Given the description of an element on the screen output the (x, y) to click on. 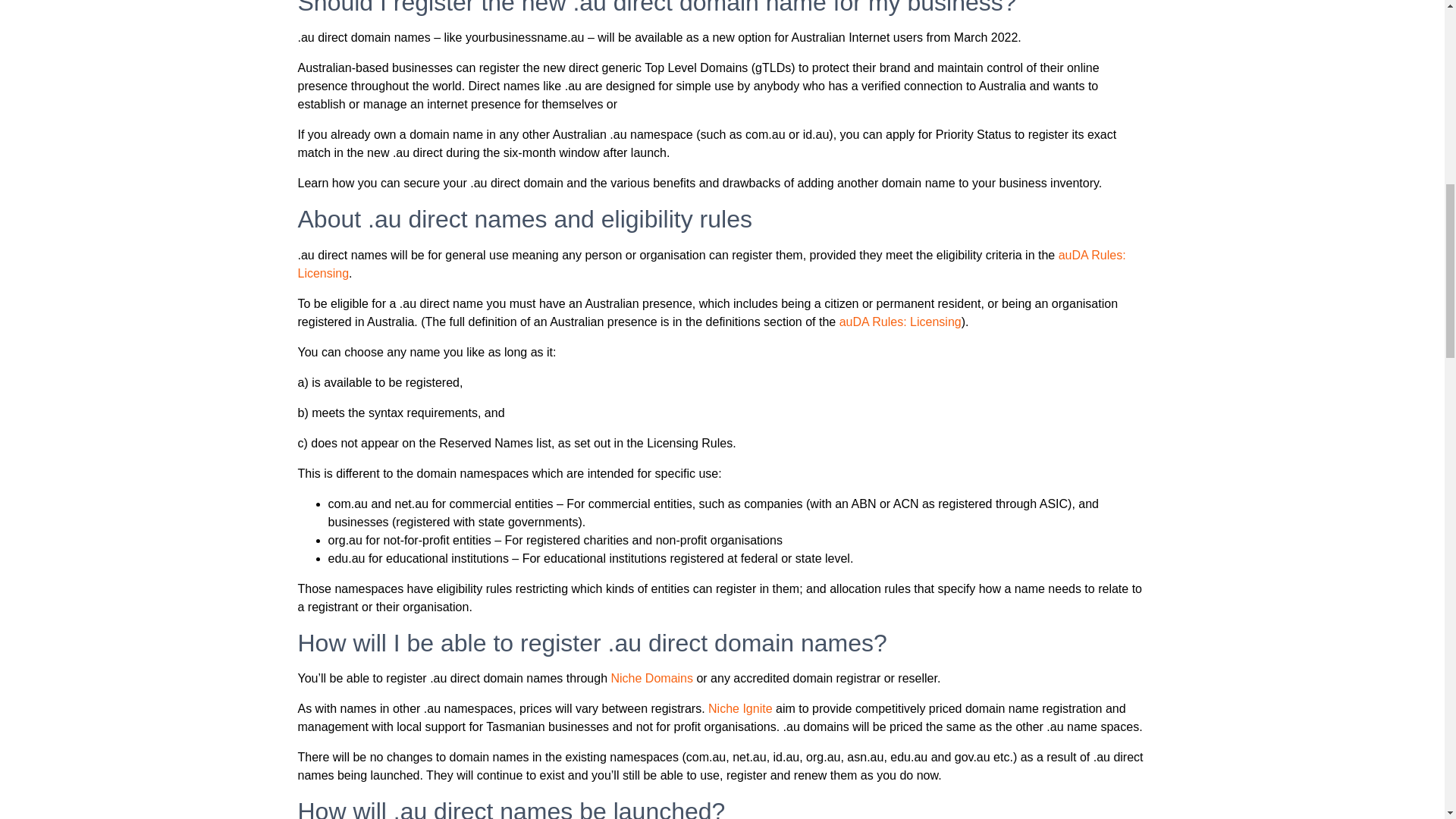
auDA Rules: Licensing (900, 321)
Niche Domains (652, 677)
Niche Ignite (740, 707)
auDA Rules: Licensing (711, 264)
